Given the description of an element on the screen output the (x, y) to click on. 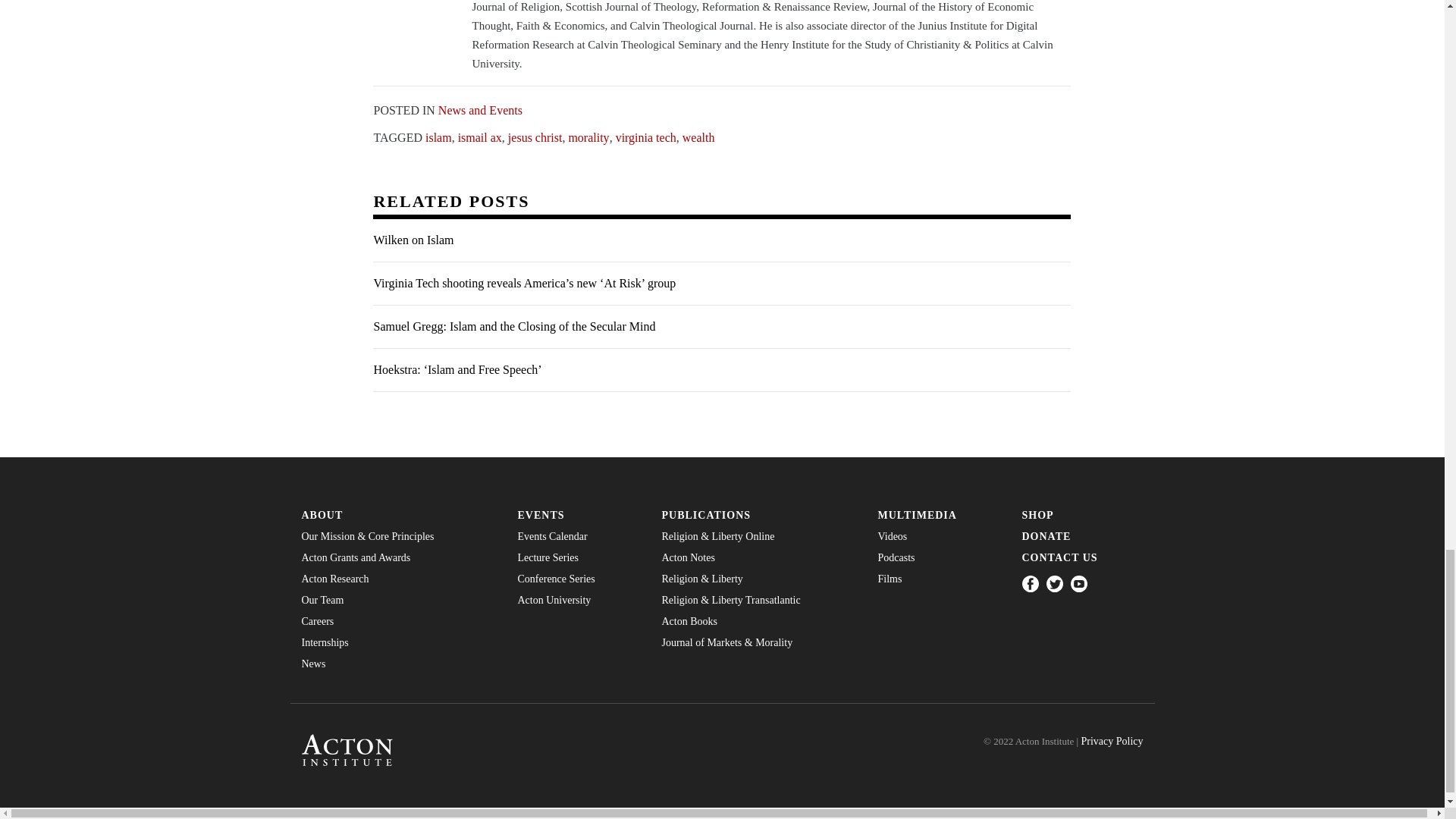
Wilken on Islam (721, 240)
virginia tech (646, 136)
morality (587, 136)
Samuel Gregg: Islam and the Closing of the Secular Mind (721, 326)
jesus christ (535, 136)
ismail ax (480, 136)
islam (438, 136)
News and Events (480, 109)
